Given the description of an element on the screen output the (x, y) to click on. 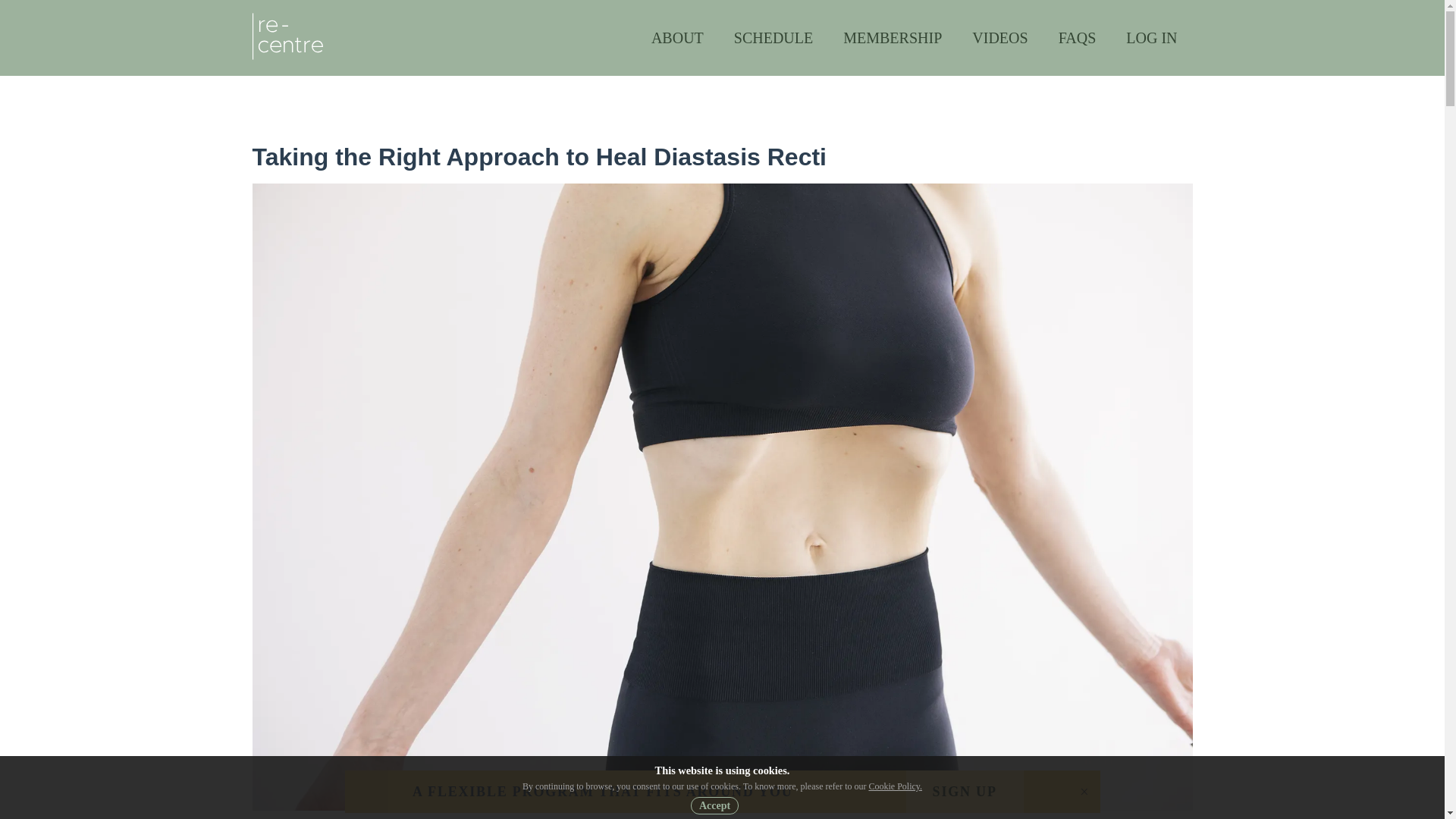
LOG IN (1151, 38)
SCHEDULE (773, 38)
VIDEOS (999, 38)
FAQS (1077, 38)
MEMBERSHIP (892, 38)
ABOUT (677, 38)
